Given the description of an element on the screen output the (x, y) to click on. 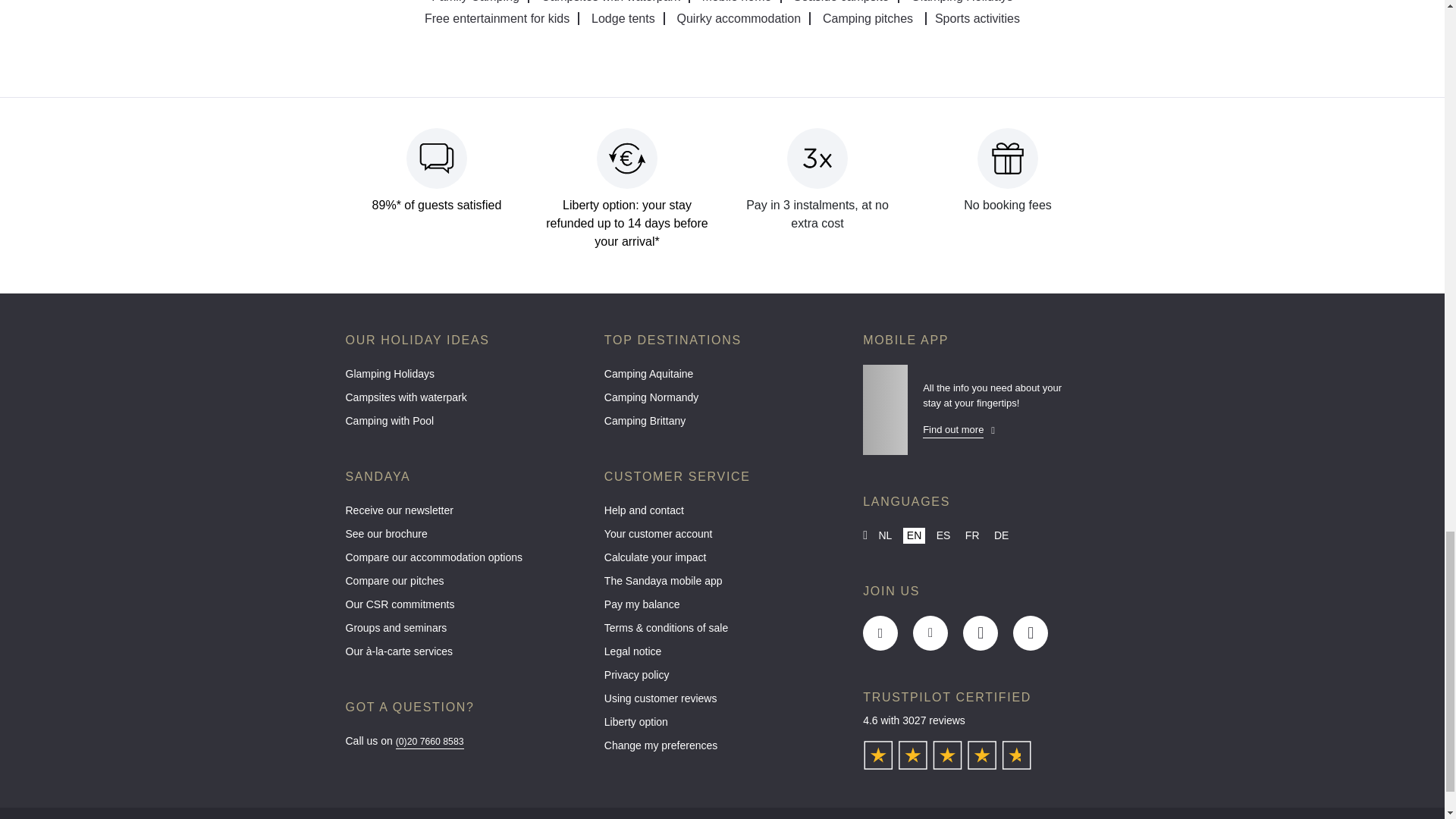
Glamping Holidays (962, 1)
Lodge tents (624, 18)
Campsites with waterpark (611, 1)
Help and contact (722, 514)
Sports activities (976, 18)
Pay my balance (722, 608)
Quirky accommodation (739, 18)
Calculate your impact (722, 561)
Groups and seminars (463, 631)
Campsites with waterpark (463, 401)
